Given the description of an element on the screen output the (x, y) to click on. 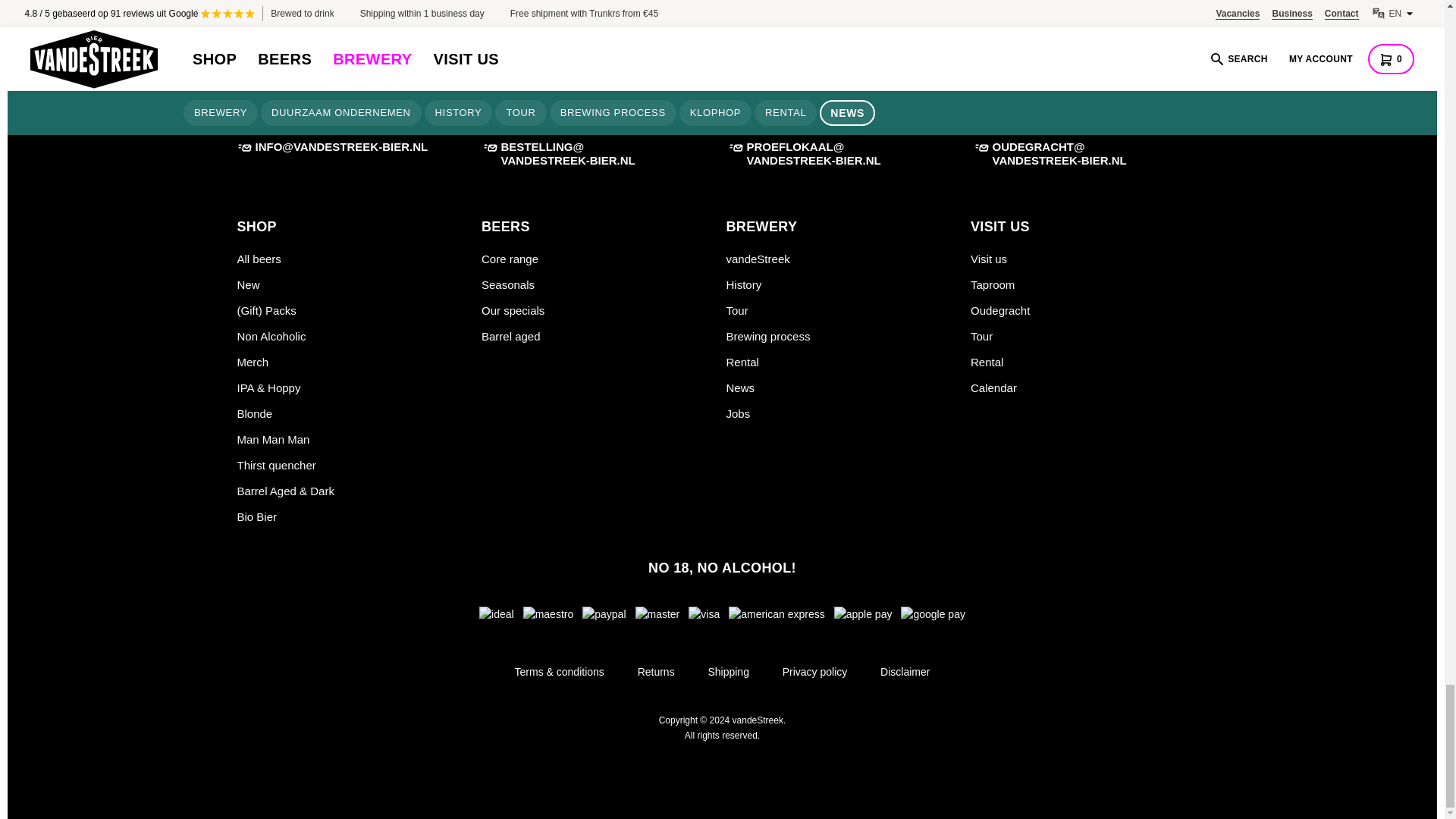
VANDESTREEK BIER (382, 7)
